Given the description of an element on the screen output the (x, y) to click on. 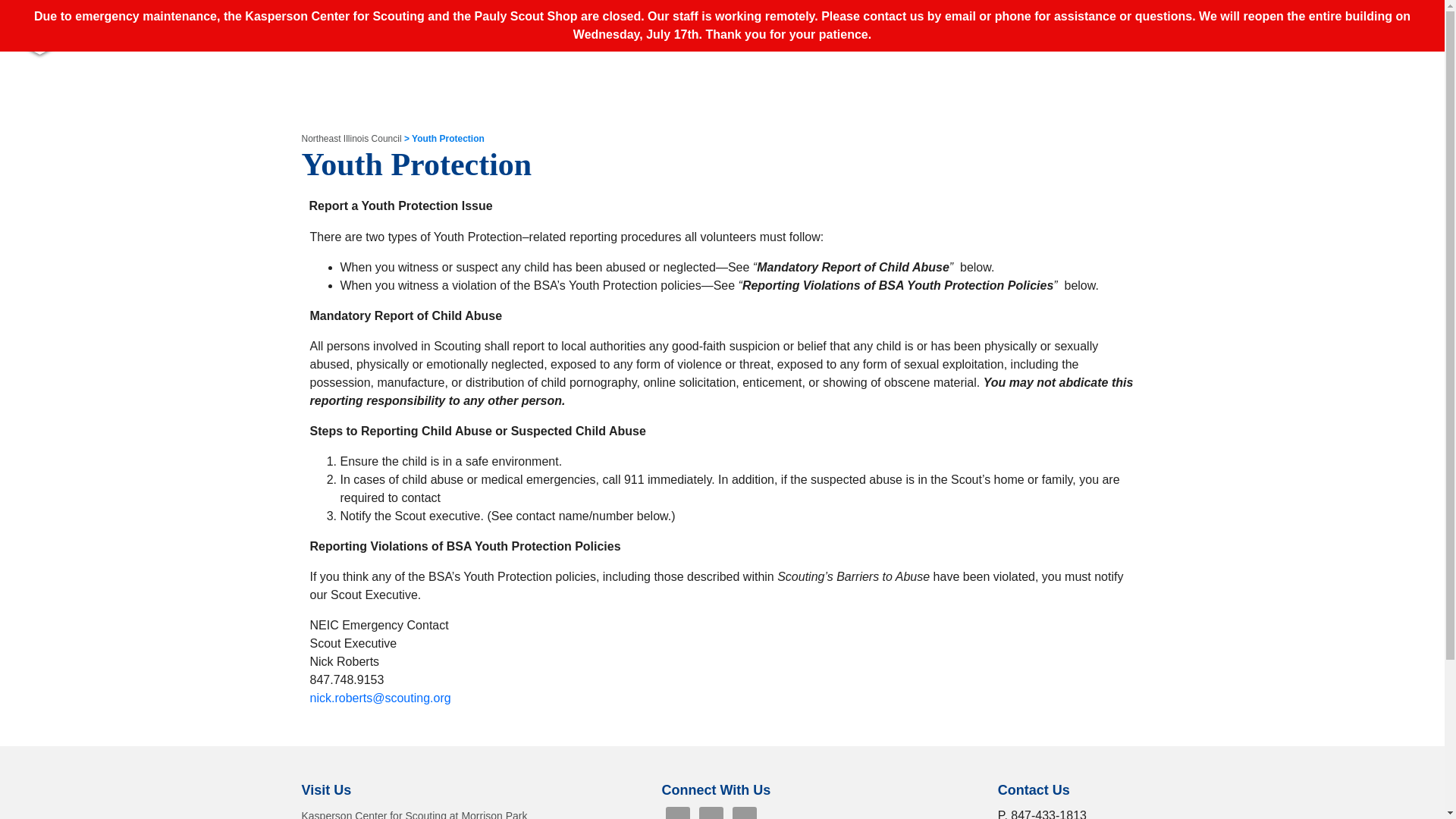
Join Scouting (903, 20)
Join Scouting (903, 20)
About (825, 20)
About (825, 20)
Support Scouting (1014, 20)
Training (1115, 20)
Calendar (1187, 20)
Support Scouting (1014, 20)
